Given the description of an element on the screen output the (x, y) to click on. 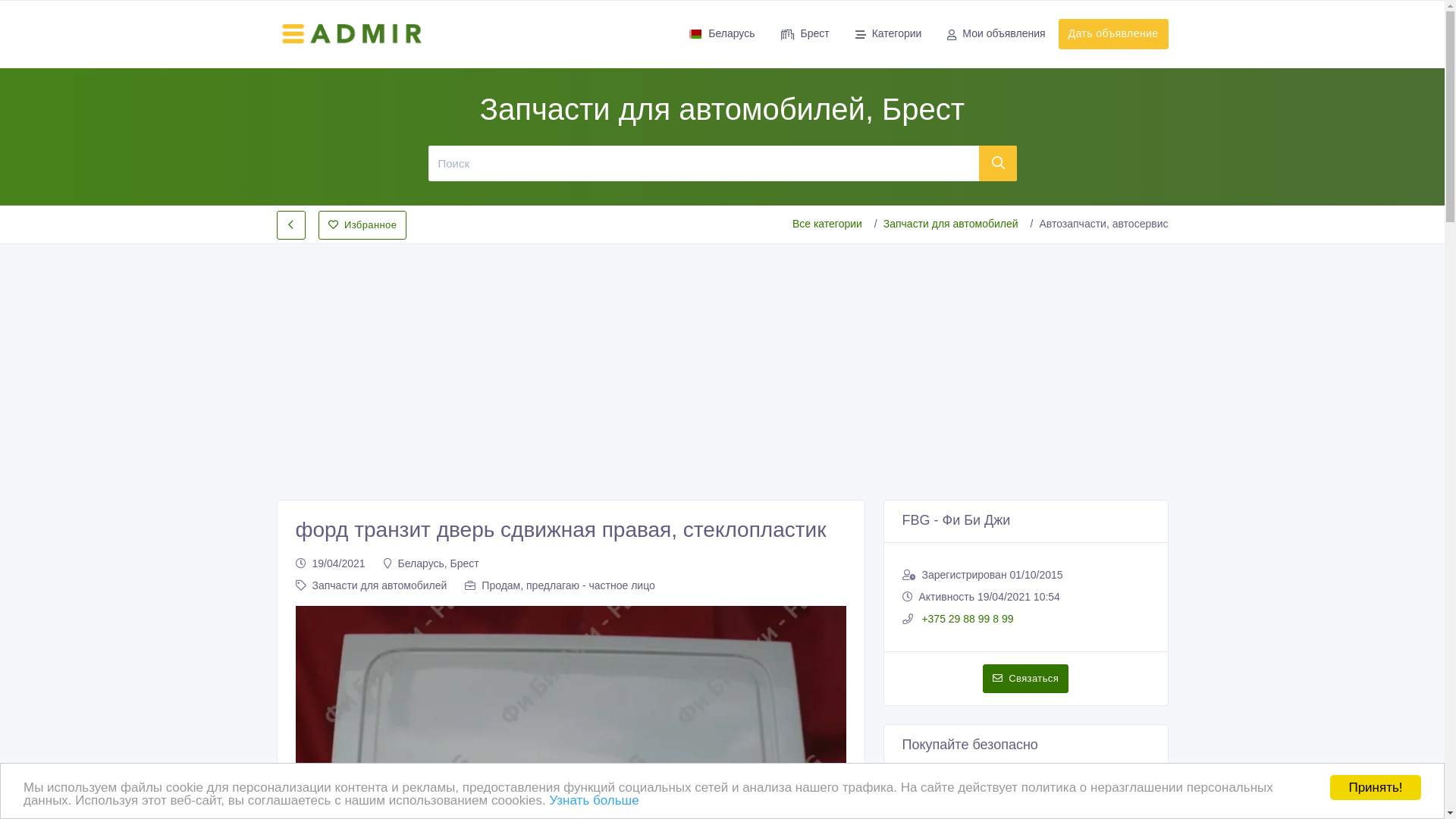
+375 29 88 99 8 99 Element type: text (966, 618)
